Given the description of an element on the screen output the (x, y) to click on. 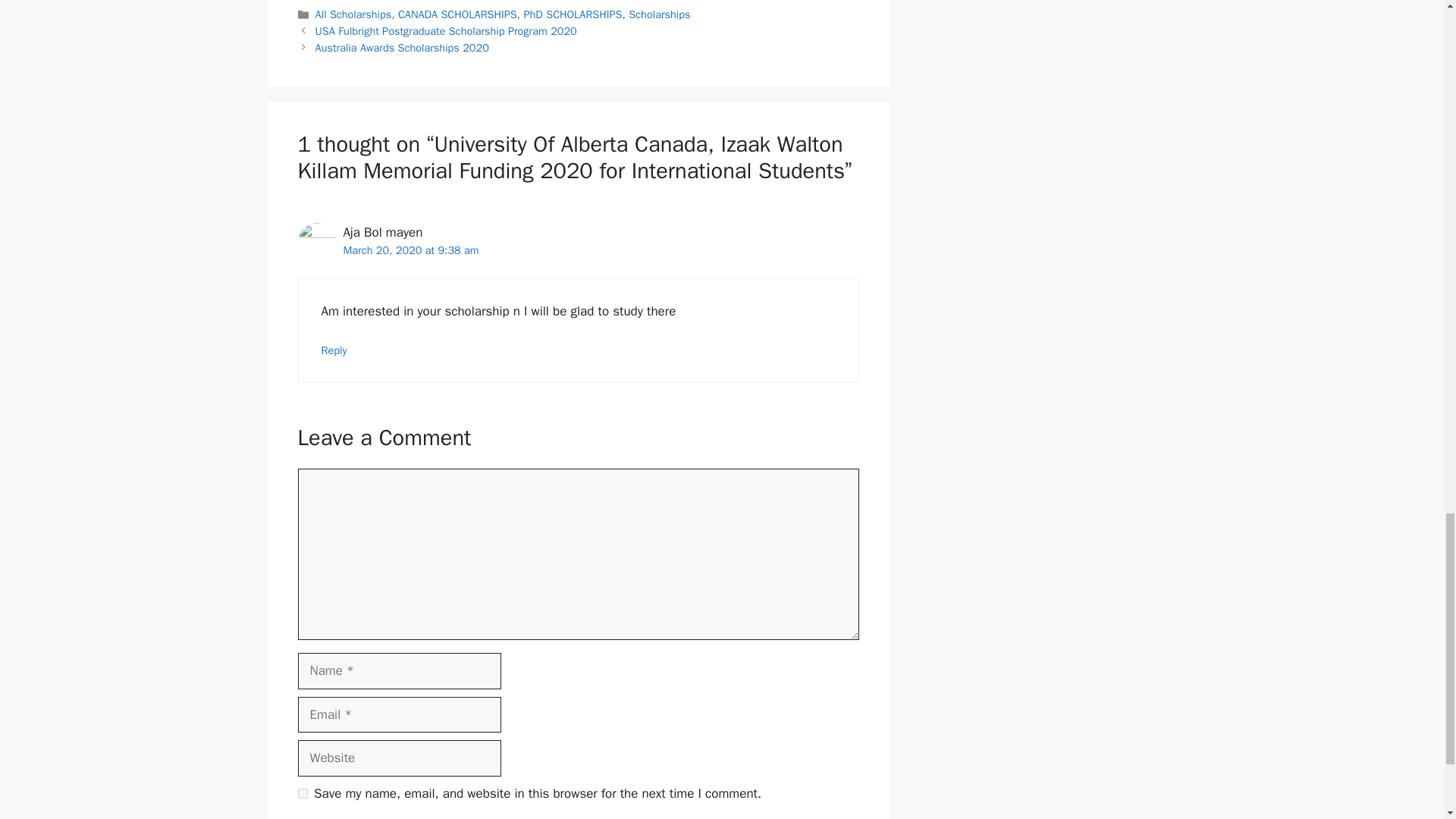
All Scholarships (353, 14)
Scholarships (659, 14)
Reply (334, 350)
PhD SCHOLARSHIPS (571, 14)
yes (302, 793)
March 20, 2020 at 9:38 am (410, 250)
USA Fulbright Postgraduate Scholarship Program 2020 (445, 30)
Australia Awards Scholarships 2020 (402, 47)
CANADA SCHOLARSHIPS (456, 14)
